Given the description of an element on the screen output the (x, y) to click on. 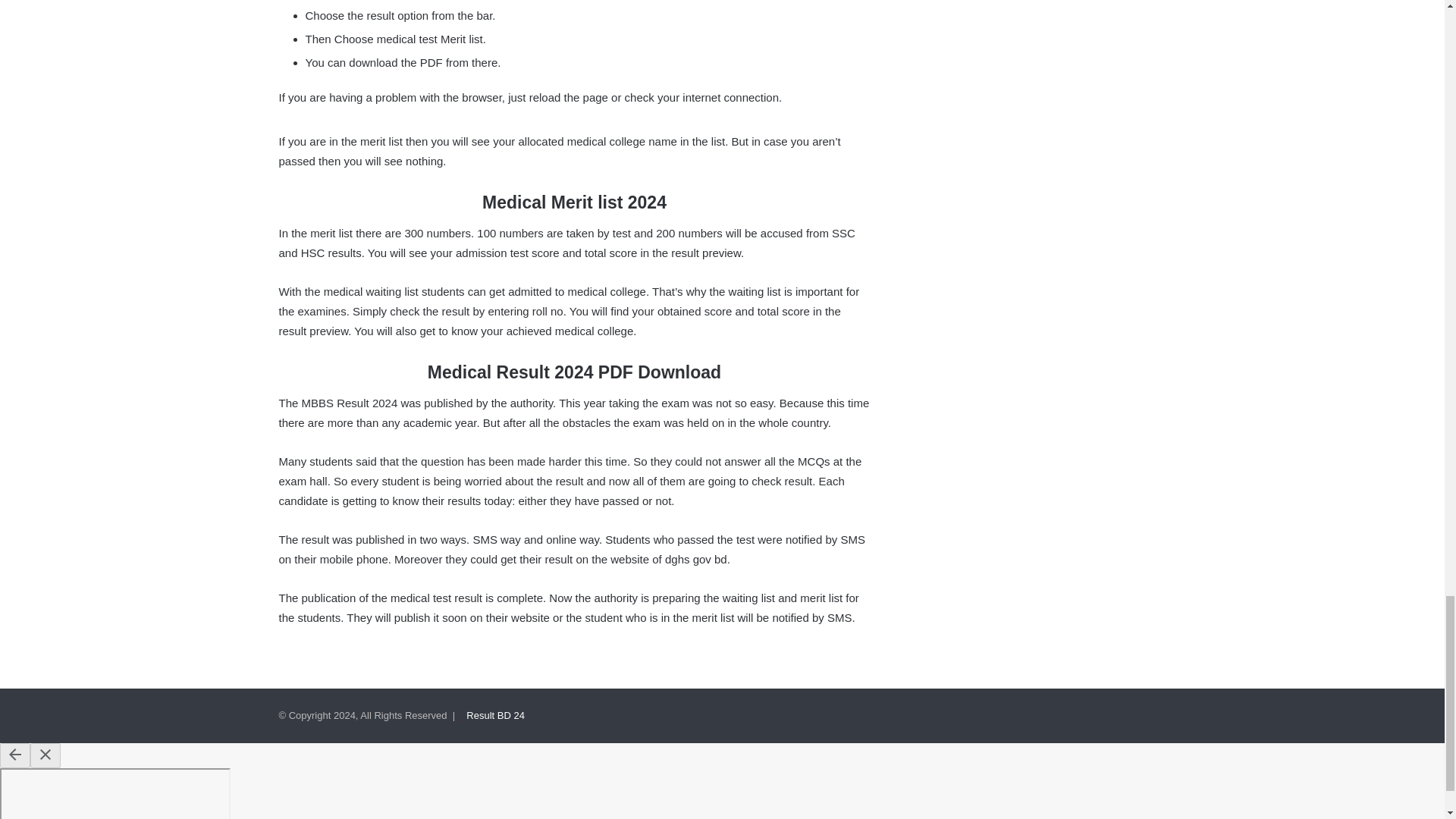
Result BD 24 (494, 715)
